Given the description of an element on the screen output the (x, y) to click on. 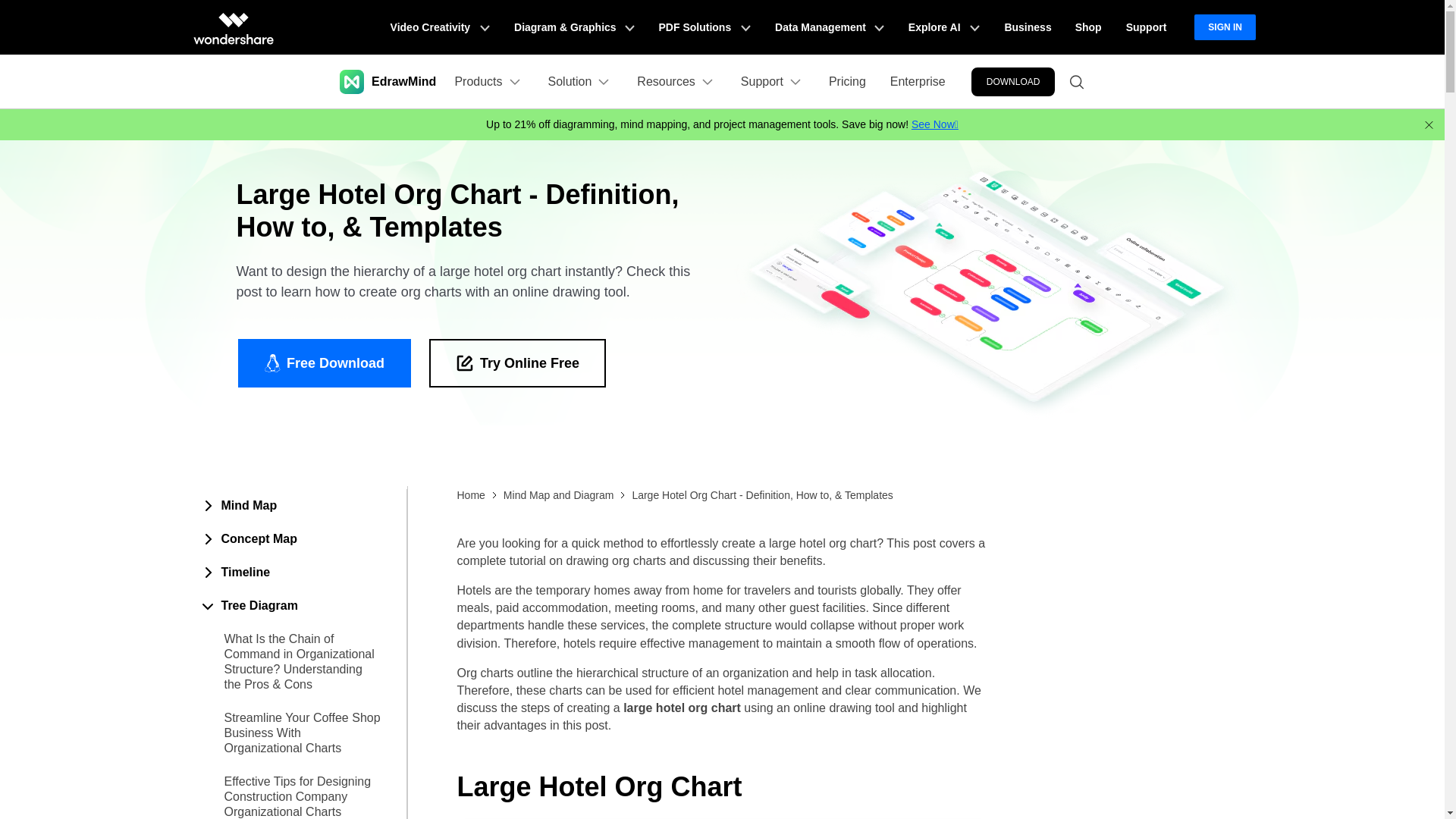
PDF Solutions (704, 27)
Business (1026, 27)
Explore AI (943, 27)
Video Creativity (439, 27)
Data Management (829, 27)
